Given the description of an element on the screen output the (x, y) to click on. 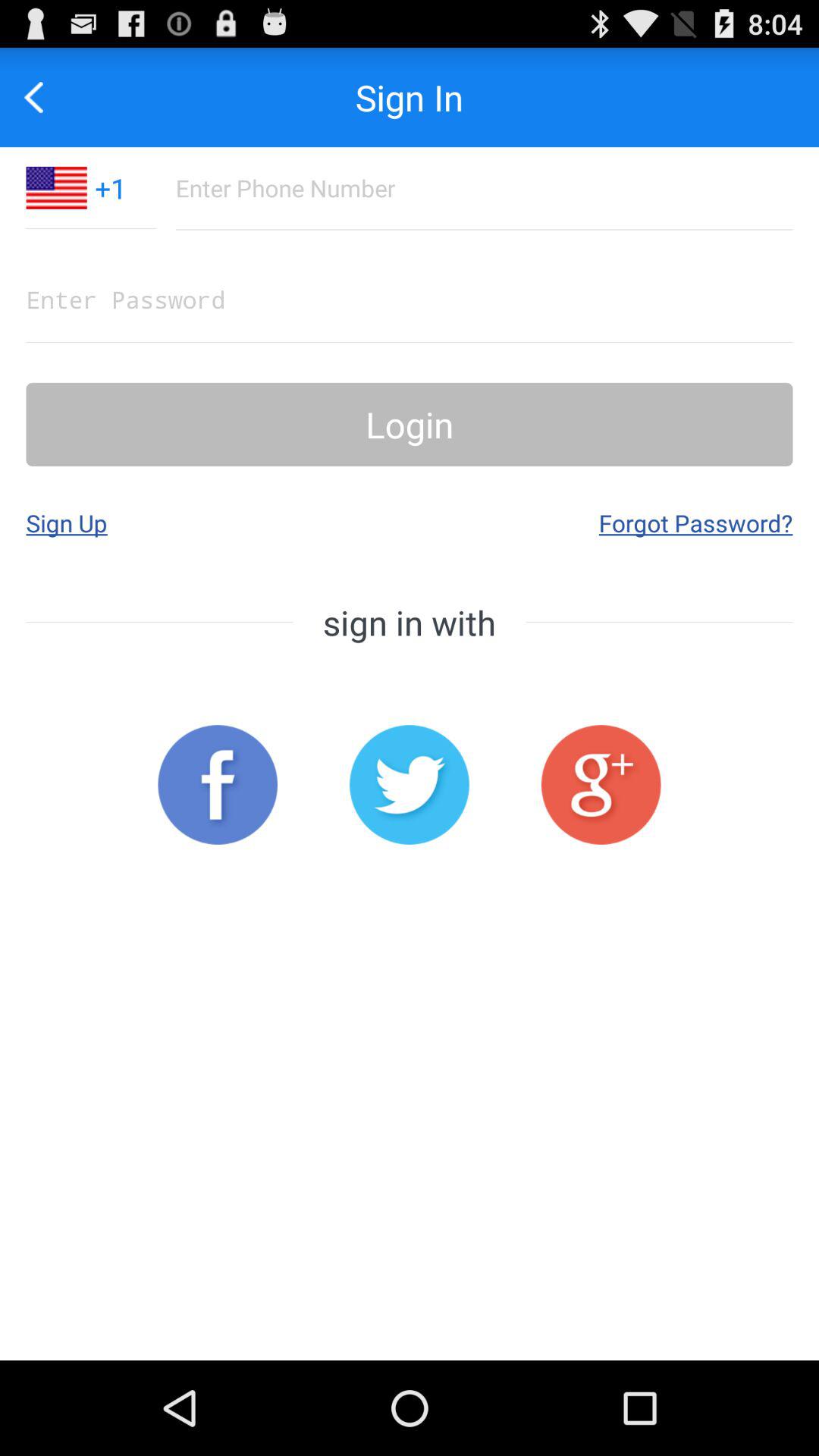
this button lets you select which country you 're in (56, 187)
